Given the description of an element on the screen output the (x, y) to click on. 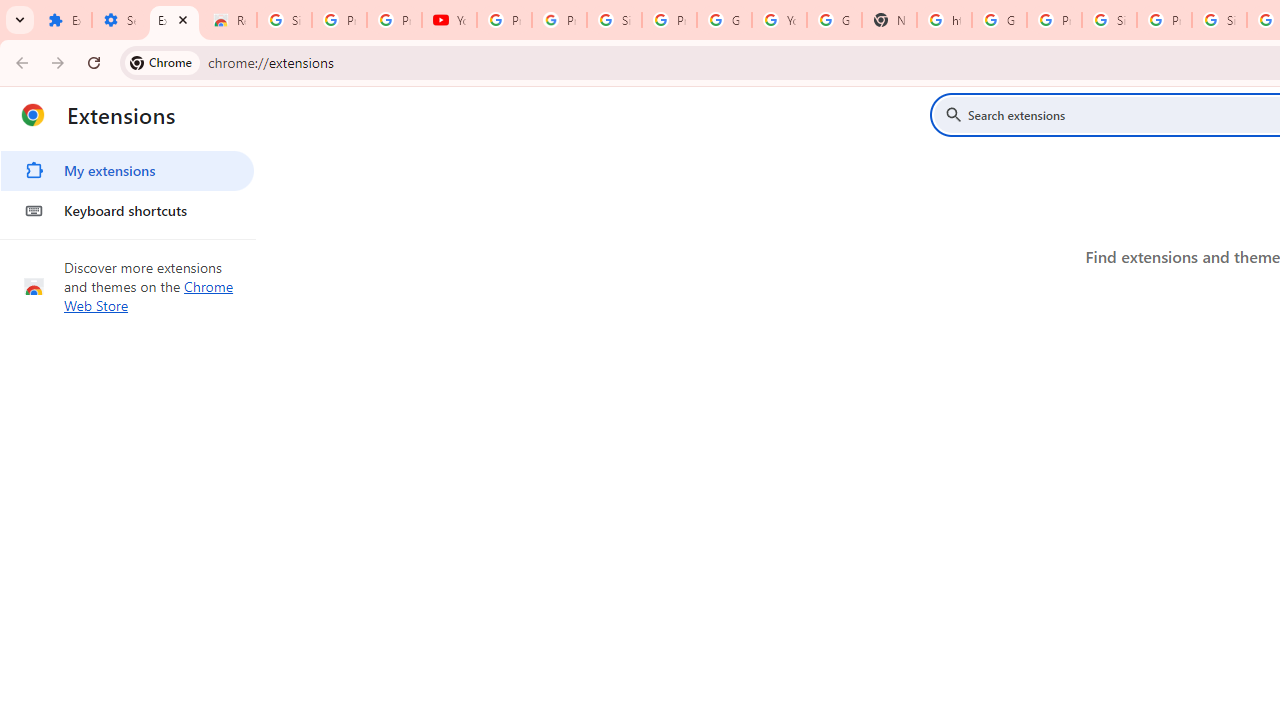
Keyboard shortcuts (127, 210)
Settings (119, 20)
Chrome Web Store (149, 296)
AutomationID: sectionMenu (128, 187)
YouTube (449, 20)
